Given the description of an element on the screen output the (x, y) to click on. 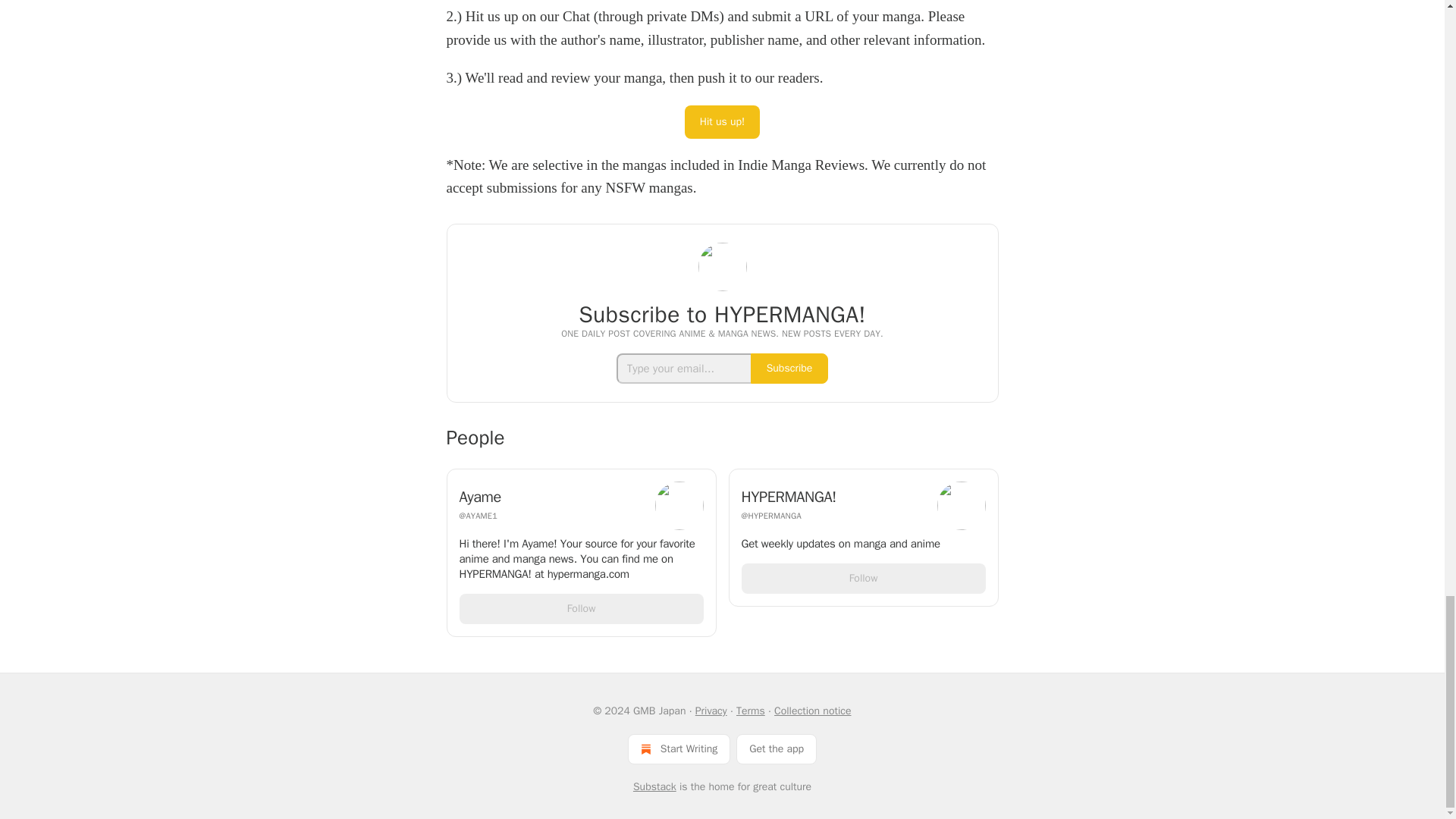
Follow (863, 578)
Start Writing (678, 748)
Hit us up! (722, 121)
HYPERMANGA! (834, 497)
Collection notice (812, 710)
Follow (581, 608)
Get the app (776, 748)
Terms (750, 710)
Privacy (710, 710)
Subscribe (789, 368)
